Given the description of an element on the screen output the (x, y) to click on. 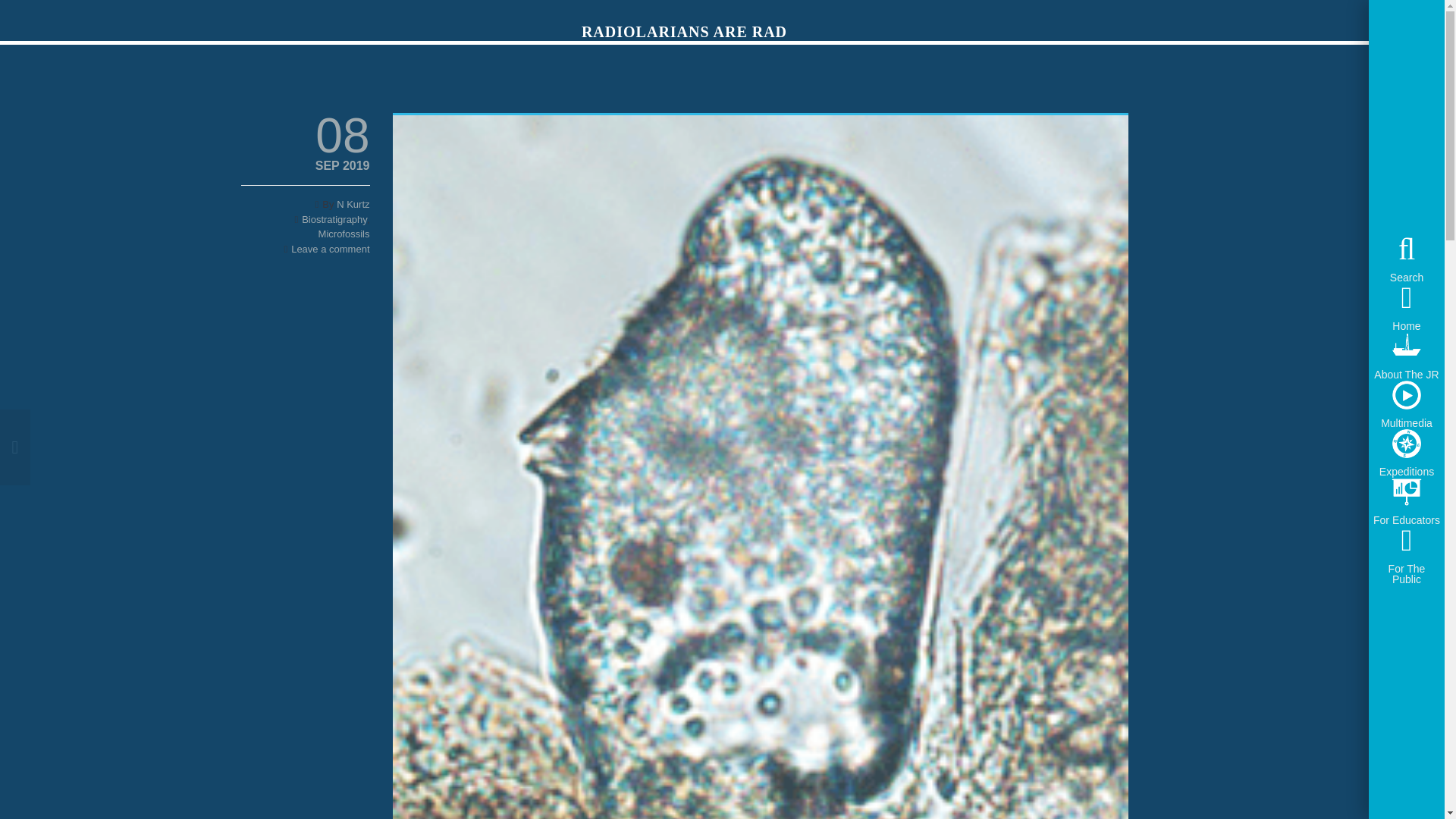
View all posts by N Kurtz (352, 204)
N Kurtz (352, 204)
Leave a comment (330, 247)
Biostratigraphy (333, 219)
Microfossils (343, 233)
THE LONG GAME (79, 447)
